Given the description of an element on the screen output the (x, y) to click on. 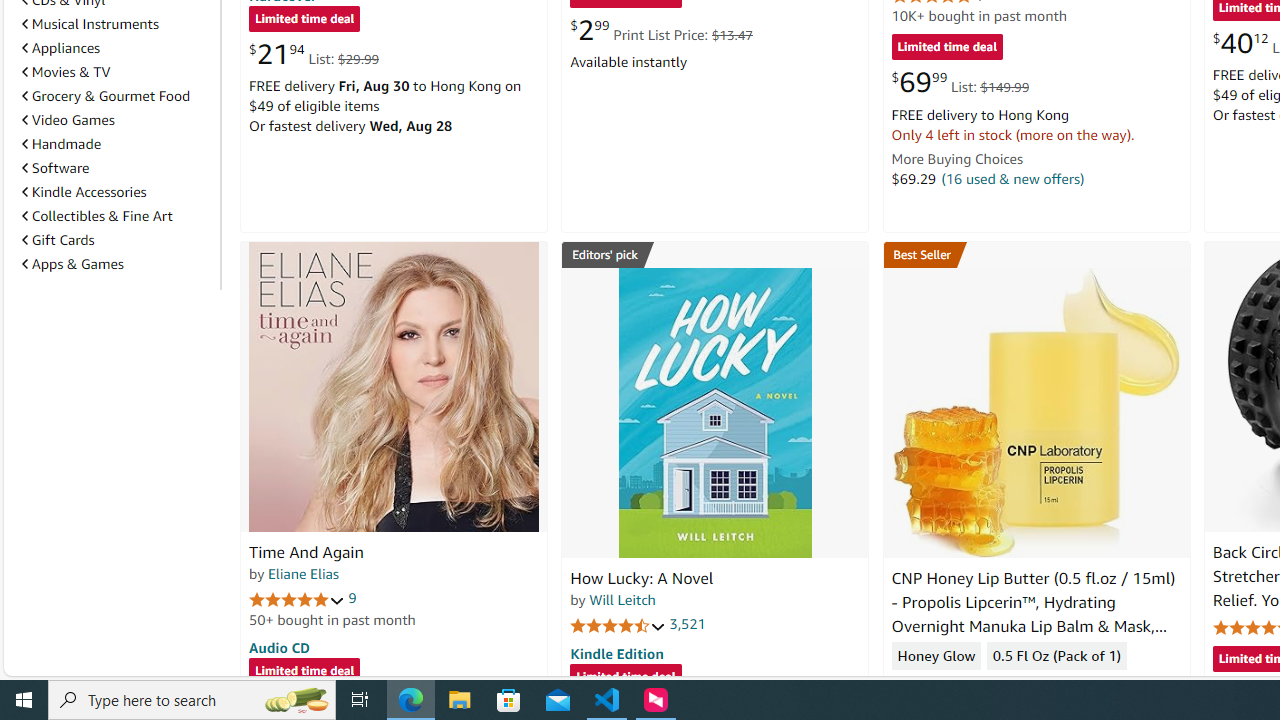
4.3 out of 5 stars (939, 685)
5.0 out of 5 stars (297, 598)
Grocery & Gourmet Food (117, 95)
Handmade (61, 143)
Grocery & Gourmet Food (105, 96)
Editors' pick Best Mystery, Thriller & Suspense (715, 254)
How Lucky: A Novel (641, 578)
Musical Instruments (117, 23)
Collectibles & Fine Art (96, 215)
Handmade (117, 143)
$21.94 List: $29.99 (314, 54)
(16 used & new offers) (1012, 178)
Appliances (117, 48)
Musical Instruments (89, 24)
